Given the description of an element on the screen output the (x, y) to click on. 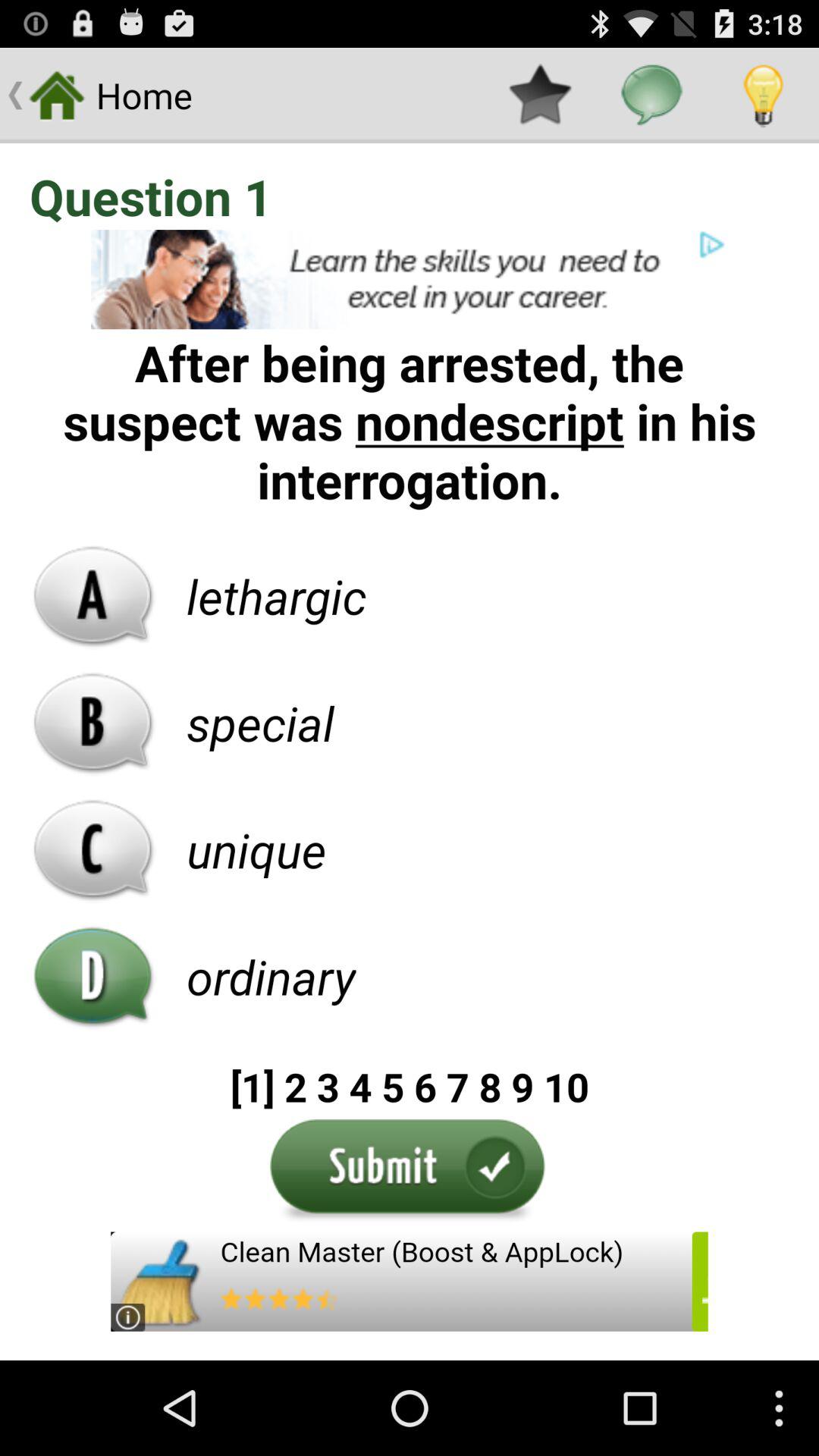
advertisement (409, 279)
